Given the description of an element on the screen output the (x, y) to click on. 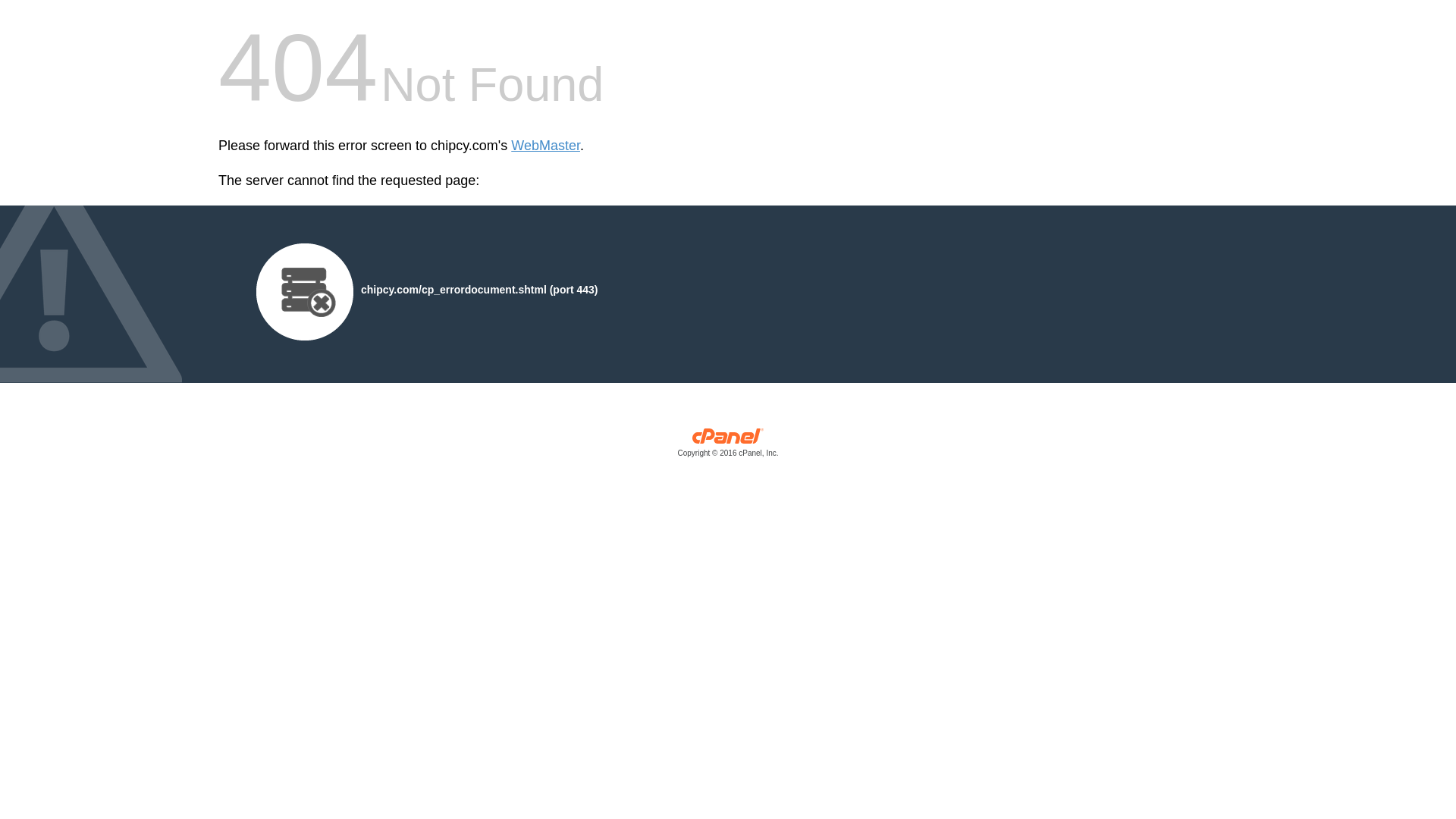
cPanel, Inc. (727, 446)
WebMaster (545, 145)
